Given the description of an element on the screen output the (x, y) to click on. 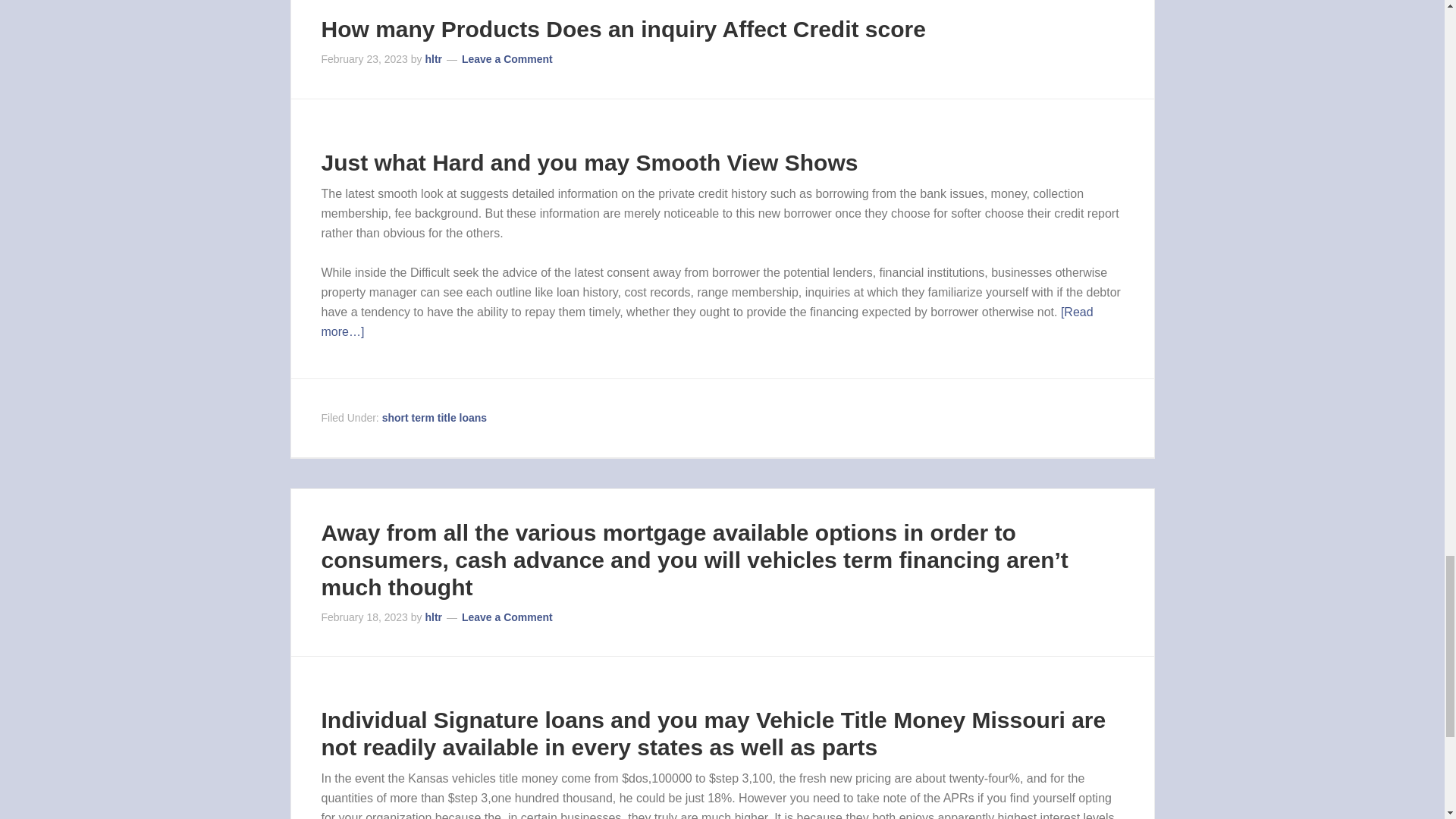
Leave a Comment (507, 59)
hltr (433, 616)
hltr (433, 59)
How many Products Does an inquiry Affect Credit score (623, 28)
Leave a Comment (507, 616)
short term title loans (433, 417)
